Given the description of an element on the screen output the (x, y) to click on. 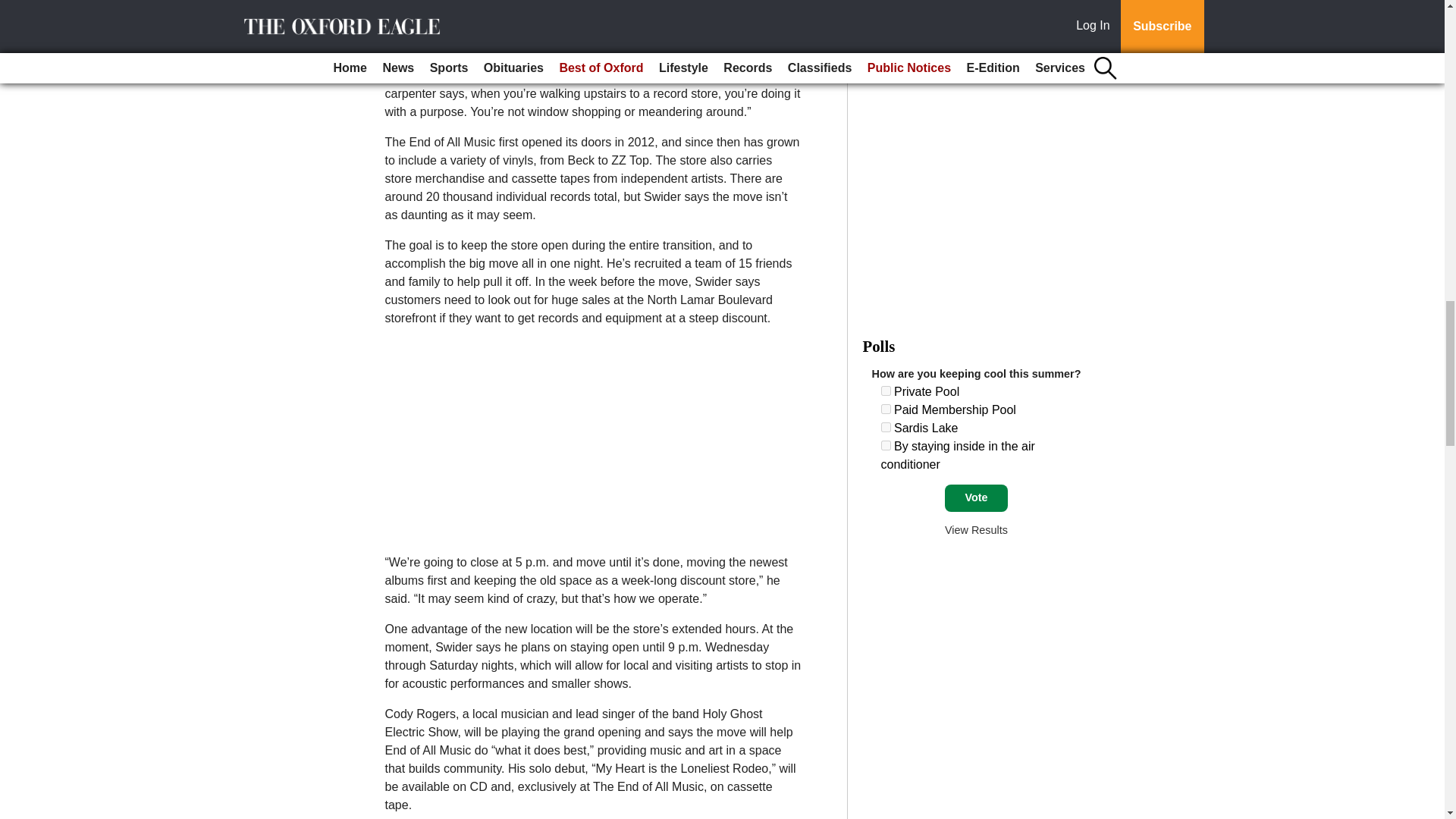
Subscribe (434, 26)
View Results Of This Poll (975, 530)
167 (885, 445)
Subscribe (434, 26)
166 (885, 427)
   Vote    (975, 497)
165 (885, 409)
164 (885, 390)
